Given the description of an element on the screen output the (x, y) to click on. 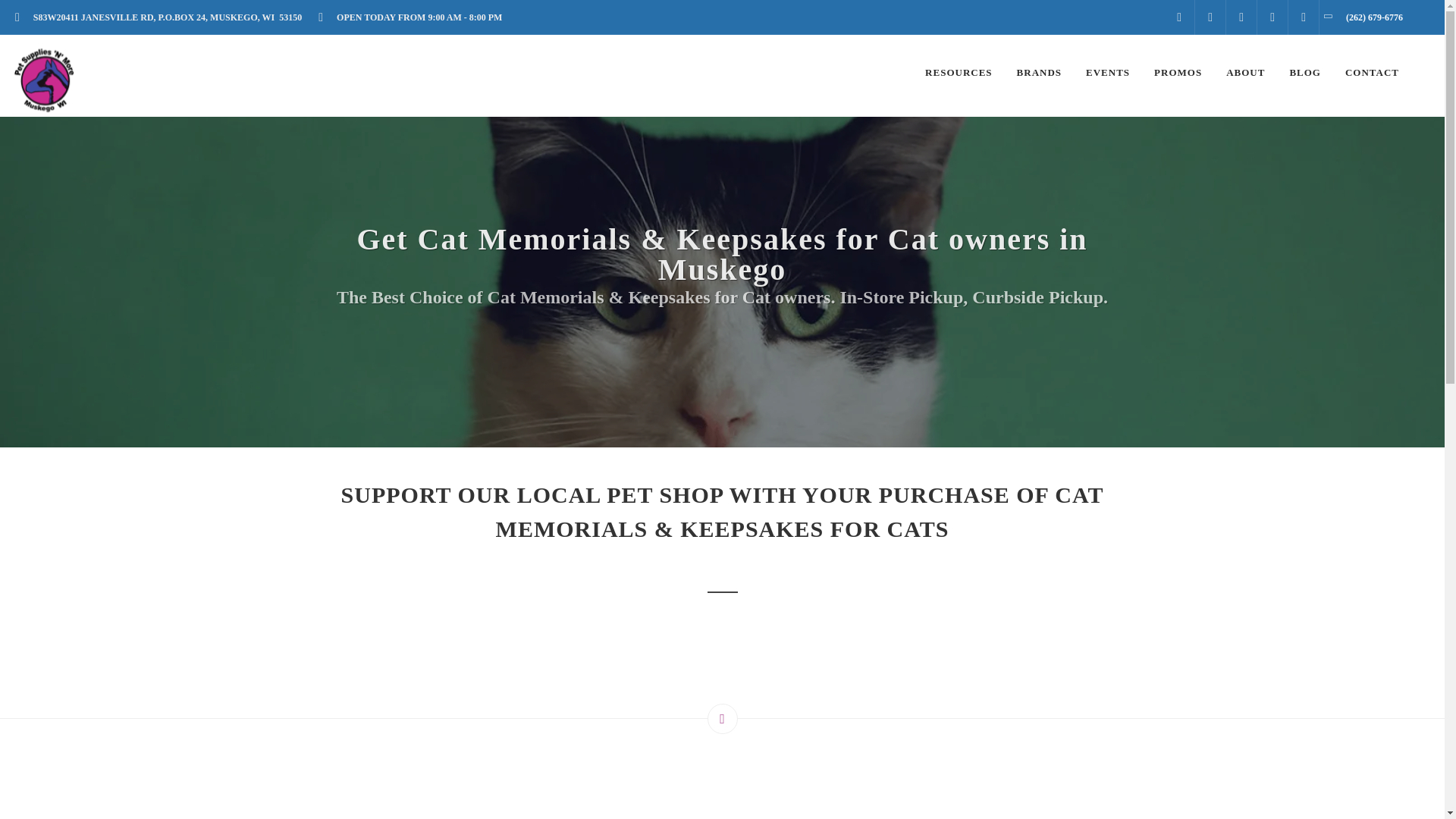
BRANDS (1039, 72)
OPEN TODAY FROM 9:00 AM - 8:00 PM (414, 16)
Pet Supplies 'N' More Brands Near Muskego (1039, 72)
RESOURCES (958, 72)
Pet Supplies 'N' More Resources Near Muskego (958, 72)
CONTACT (1371, 72)
PROMOS (1177, 72)
Pet Supplies 'N' More Promos Near Muskego (1177, 72)
S83W20411 JANESVILLE RD, P.O.BOX 24, MUSKEGO, WI  53150 (162, 16)
